Given the description of an element on the screen output the (x, y) to click on. 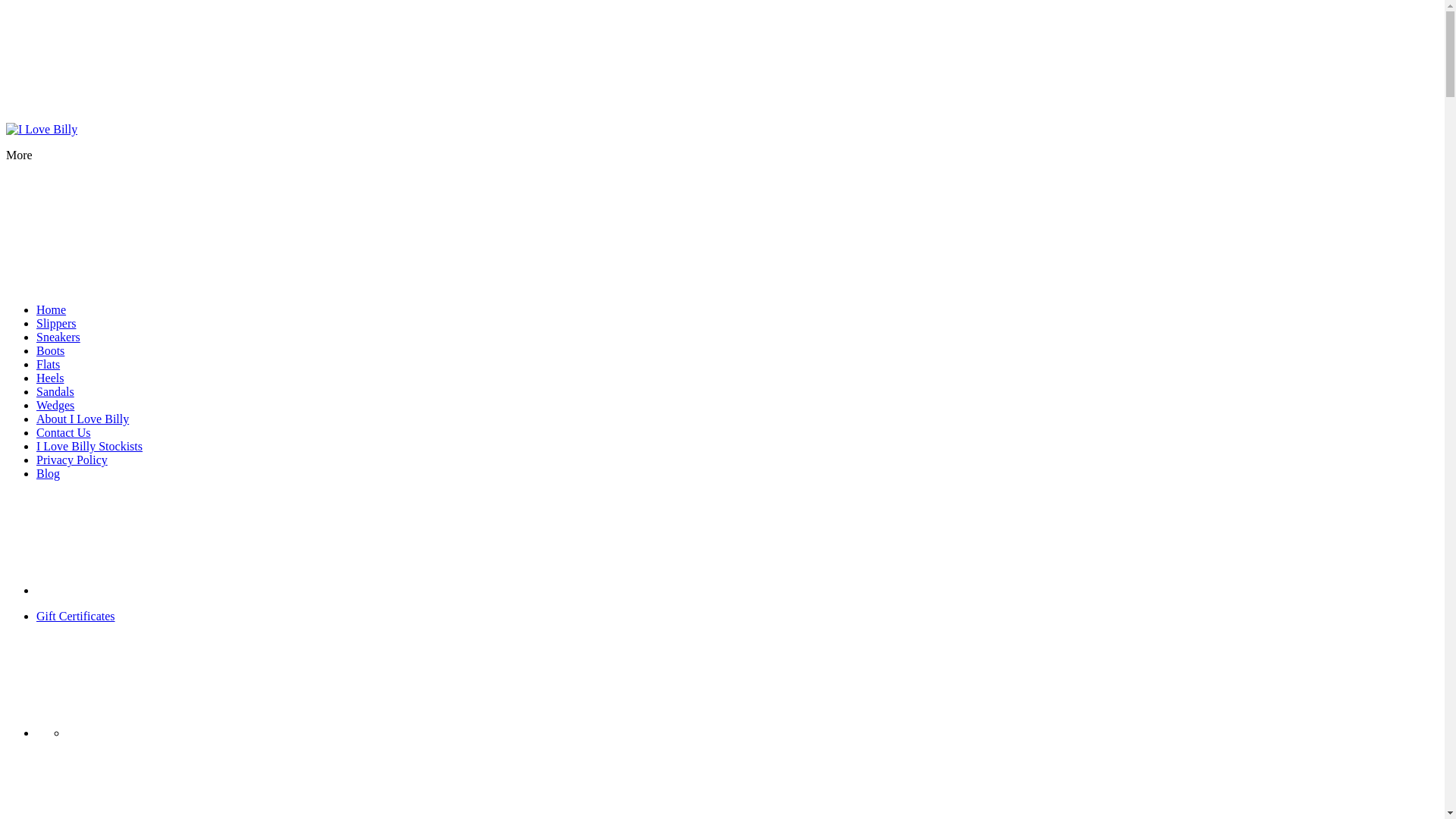
About I Love Billy Element type: text (82, 418)
Sneakers Element type: text (58, 336)
Show All Element type: hover (149, 589)
Blog Element type: text (47, 473)
I Love Billy Element type: hover (41, 129)
Gift Certificates Element type: text (75, 615)
Contact Us Element type: text (63, 432)
Privacy Policy Element type: text (71, 459)
I Love Billy Stockists Element type: text (89, 445)
Boots Element type: text (50, 350)
Heels Element type: text (49, 377)
Slippers Element type: text (55, 322)
Sandals Element type: text (55, 391)
Home Element type: text (50, 309)
Flats Element type: text (47, 363)
Wedges Element type: text (55, 404)
